Given the description of an element on the screen output the (x, y) to click on. 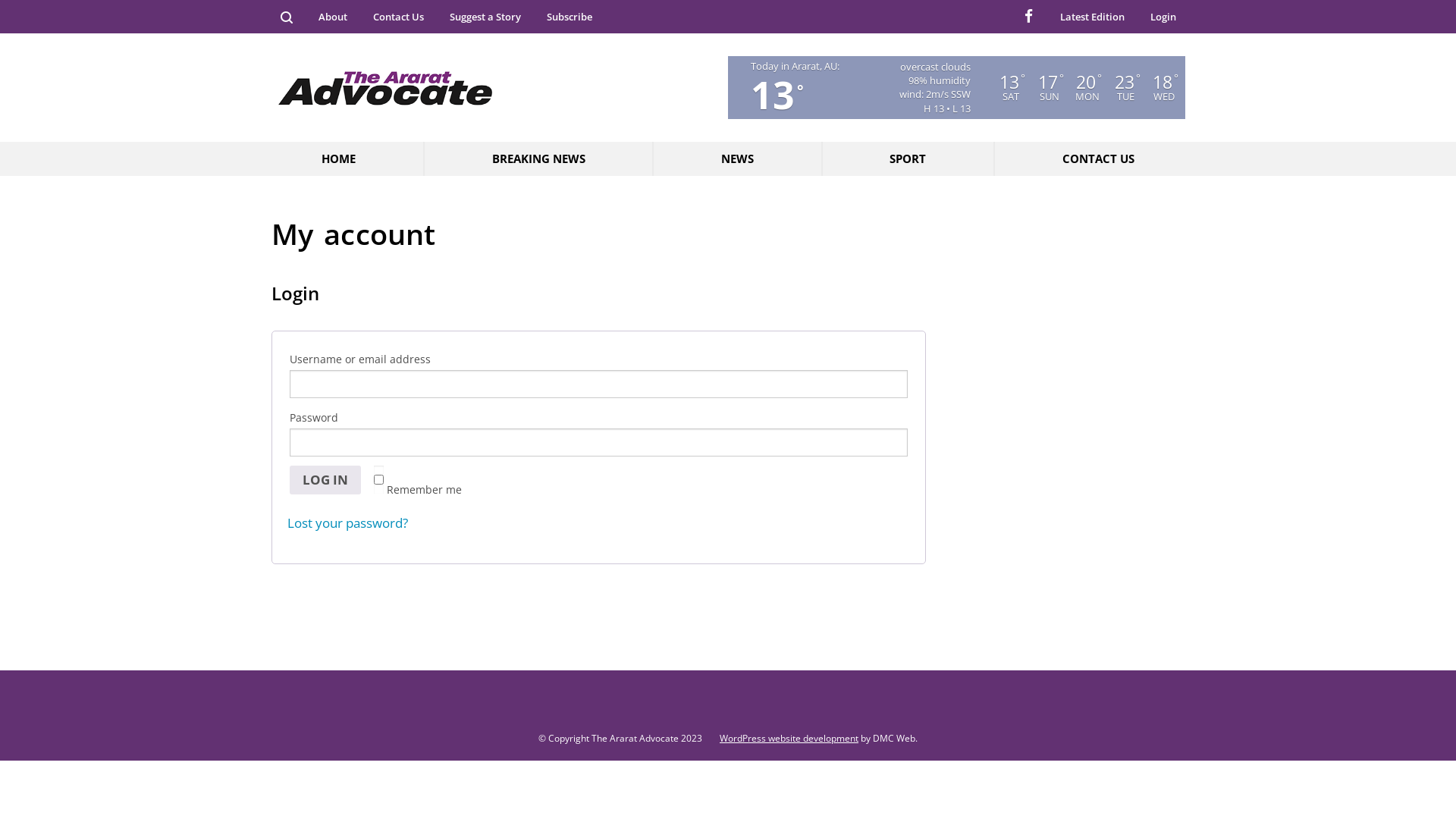
Contact Us Element type: text (398, 16)
Latest Edition Element type: text (1092, 16)
Lost your password? Element type: text (346, 522)
About Element type: text (332, 16)
HOME Element type: text (347, 158)
LOG IN Element type: text (324, 479)
BREAKING NEWS Element type: text (537, 158)
SPORT Element type: text (908, 158)
CONTACT US Element type: text (1089, 158)
Subscribe Element type: text (568, 16)
Suggest a Story Element type: text (484, 16)
WordPress website development Element type: text (781, 737)
NEWS Element type: text (736, 158)
Login Element type: text (1162, 16)
